Given the description of an element on the screen output the (x, y) to click on. 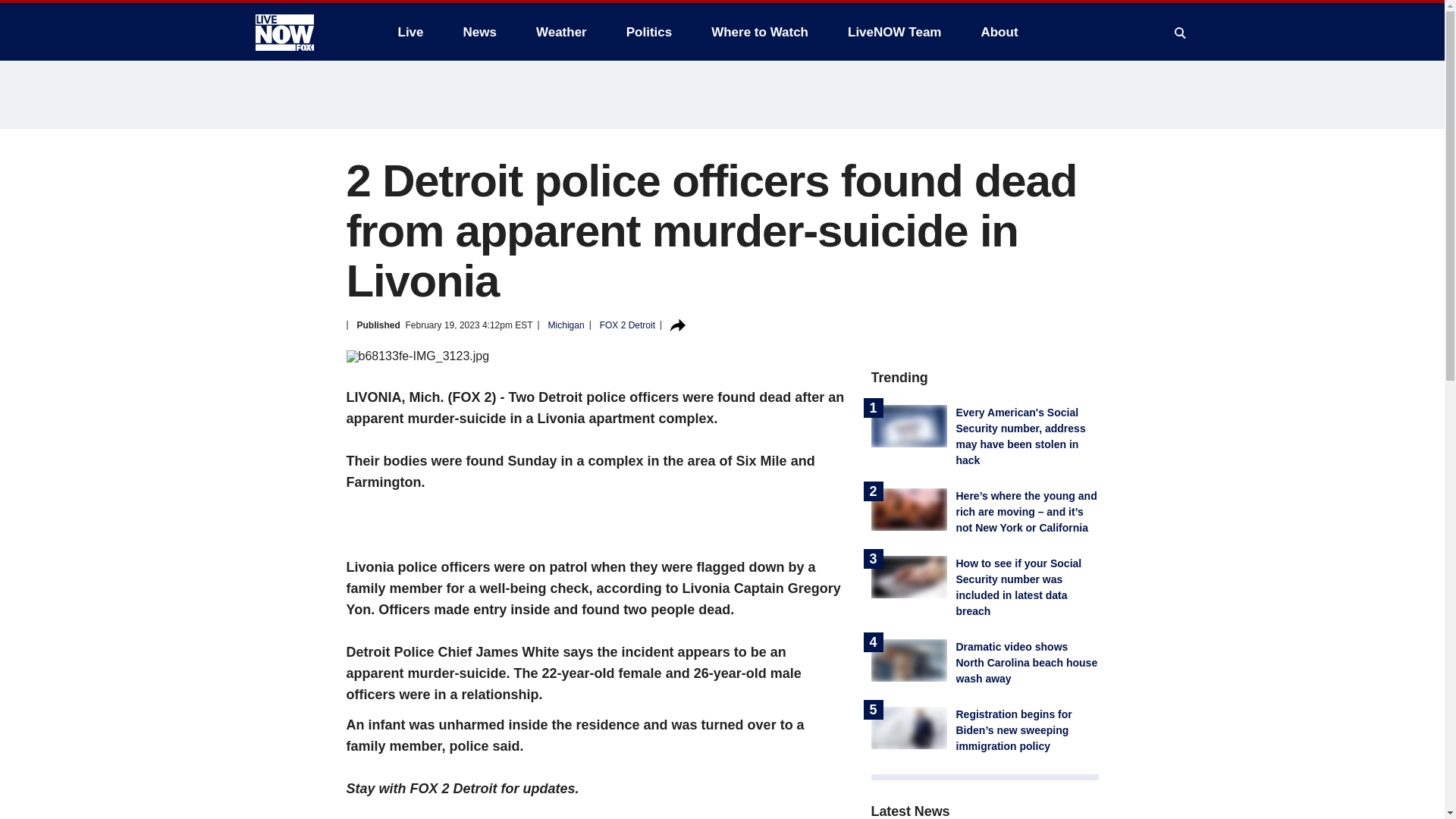
About (998, 32)
Live (410, 32)
News (479, 32)
Where to Watch (759, 32)
Weather (561, 32)
LiveNOW Team (894, 32)
Politics (649, 32)
